Given the description of an element on the screen output the (x, y) to click on. 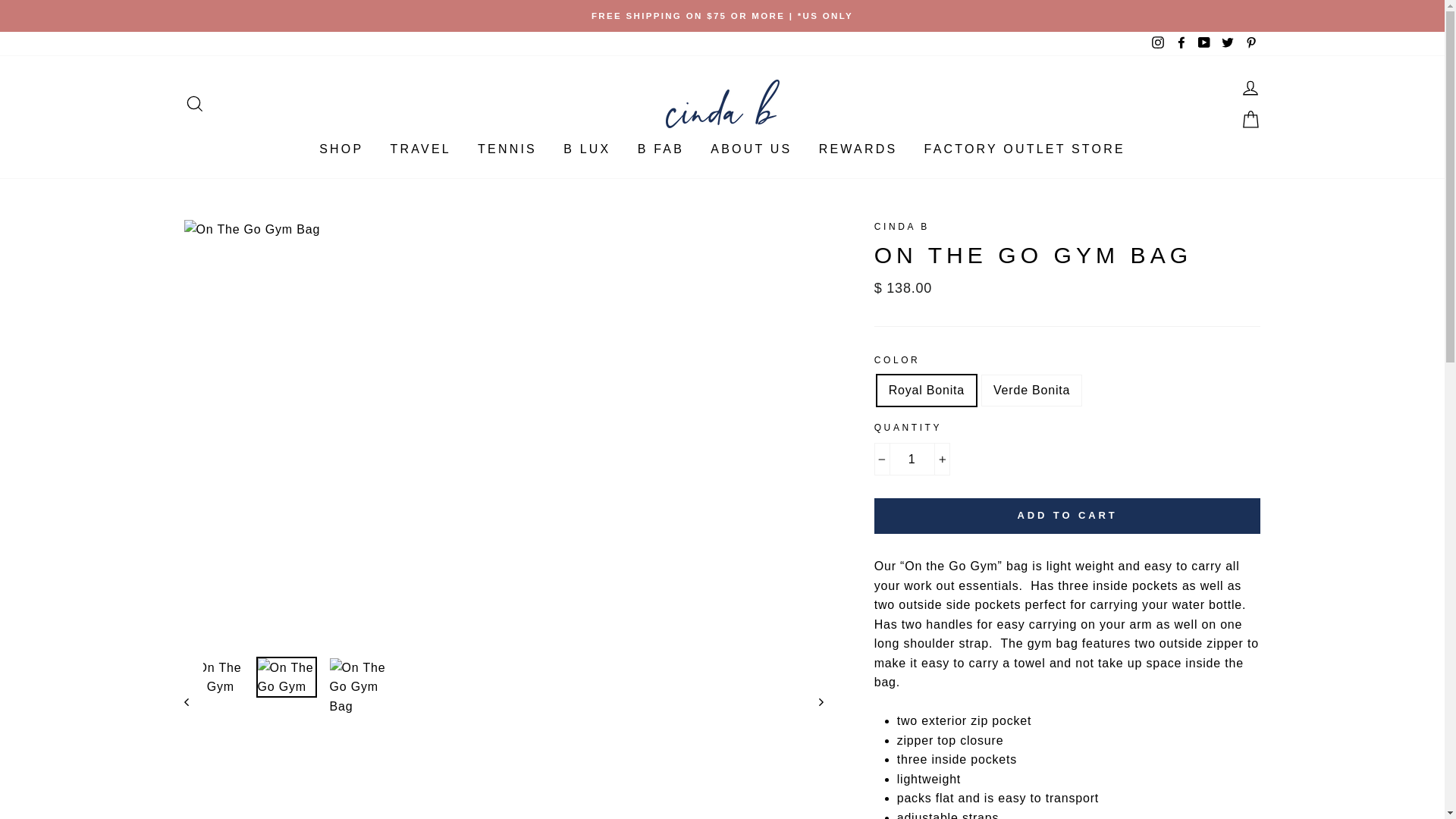
1 (912, 459)
cinda b (902, 226)
